Given the description of an element on the screen output the (x, y) to click on. 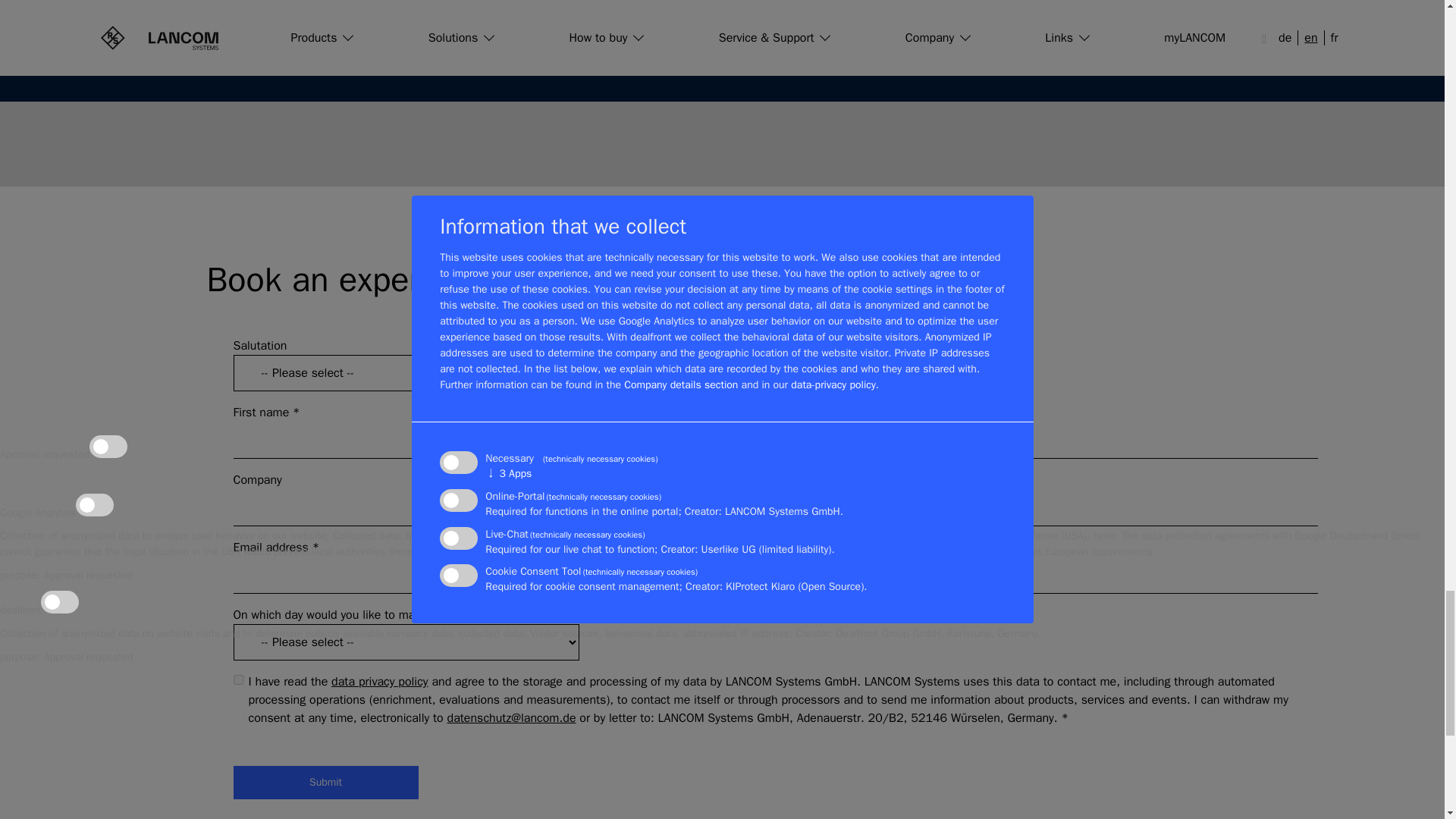
on (238, 679)
Submit (325, 782)
